Given the description of an element on the screen output the (x, y) to click on. 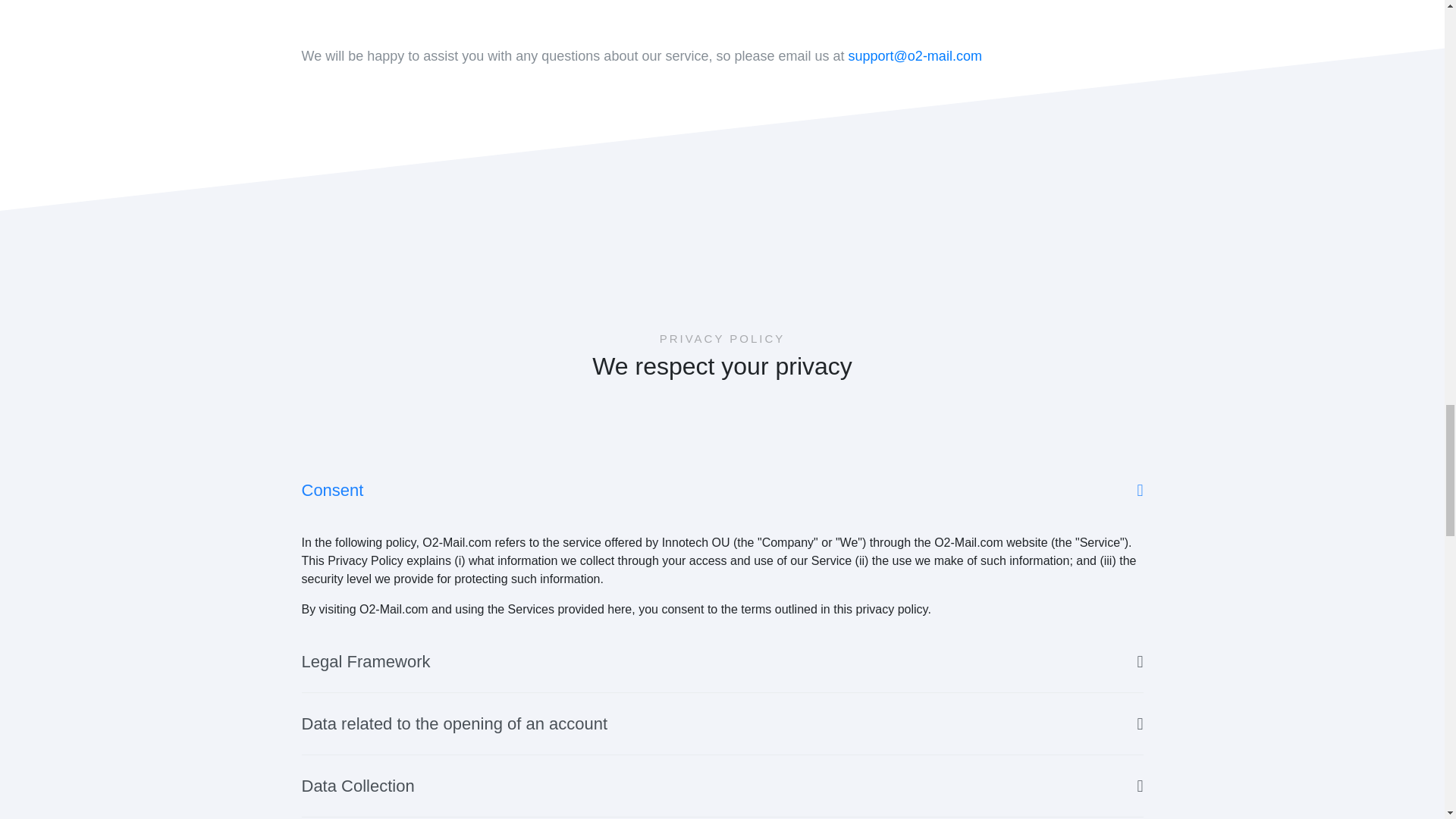
Data Collection (721, 786)
Consent (721, 490)
Legal Framework (721, 661)
Data related to the opening of an account (721, 723)
